Given the description of an element on the screen output the (x, y) to click on. 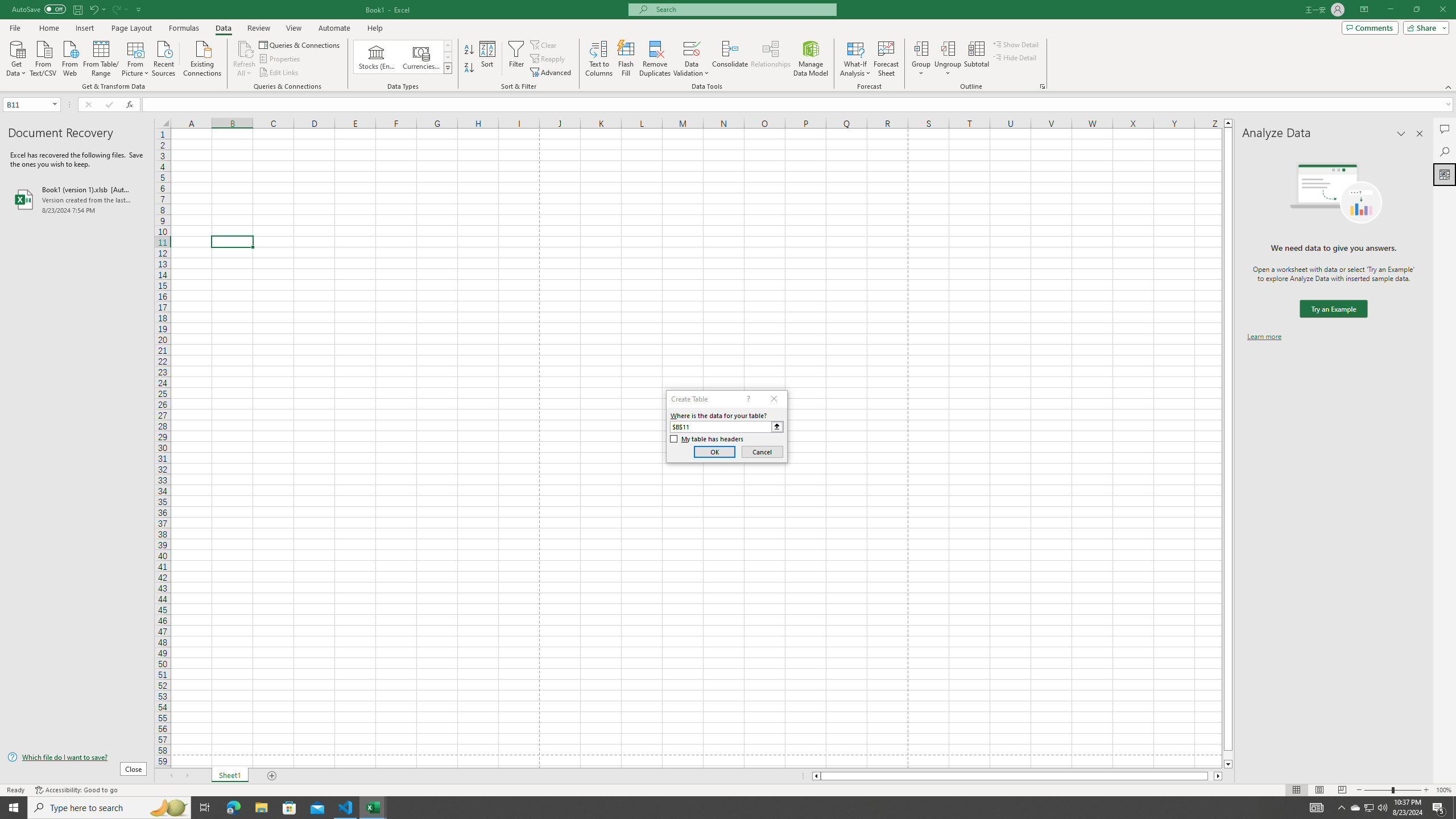
Forecast Sheet (885, 58)
Currencies (English) (420, 56)
Clear (544, 44)
Show Detail (1016, 44)
Analyze Data (1444, 173)
Stocks (English) (375, 56)
Reapply (548, 58)
Sort Z to A (469, 67)
